Given the description of an element on the screen output the (x, y) to click on. 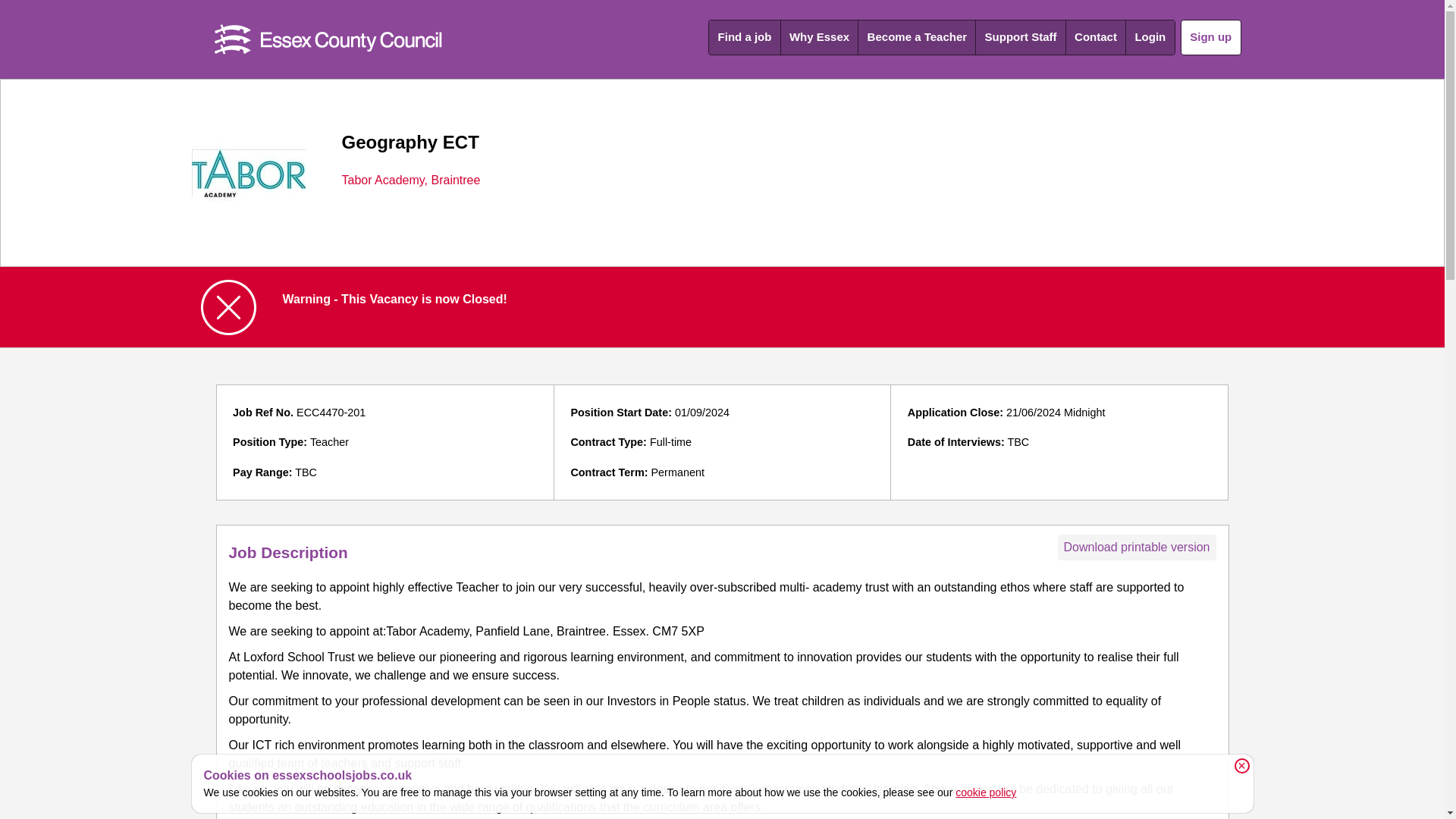
Contact (1095, 37)
Become a Teacher (917, 37)
cookie policy (985, 792)
Find a job (743, 37)
Tabor Academy school crest. (247, 173)
Sign up (1210, 37)
Tabor Academy, Braintree (410, 180)
Download printable version (1136, 547)
Login (1149, 37)
Support Staff (1020, 37)
